Given the description of an element on the screen output the (x, y) to click on. 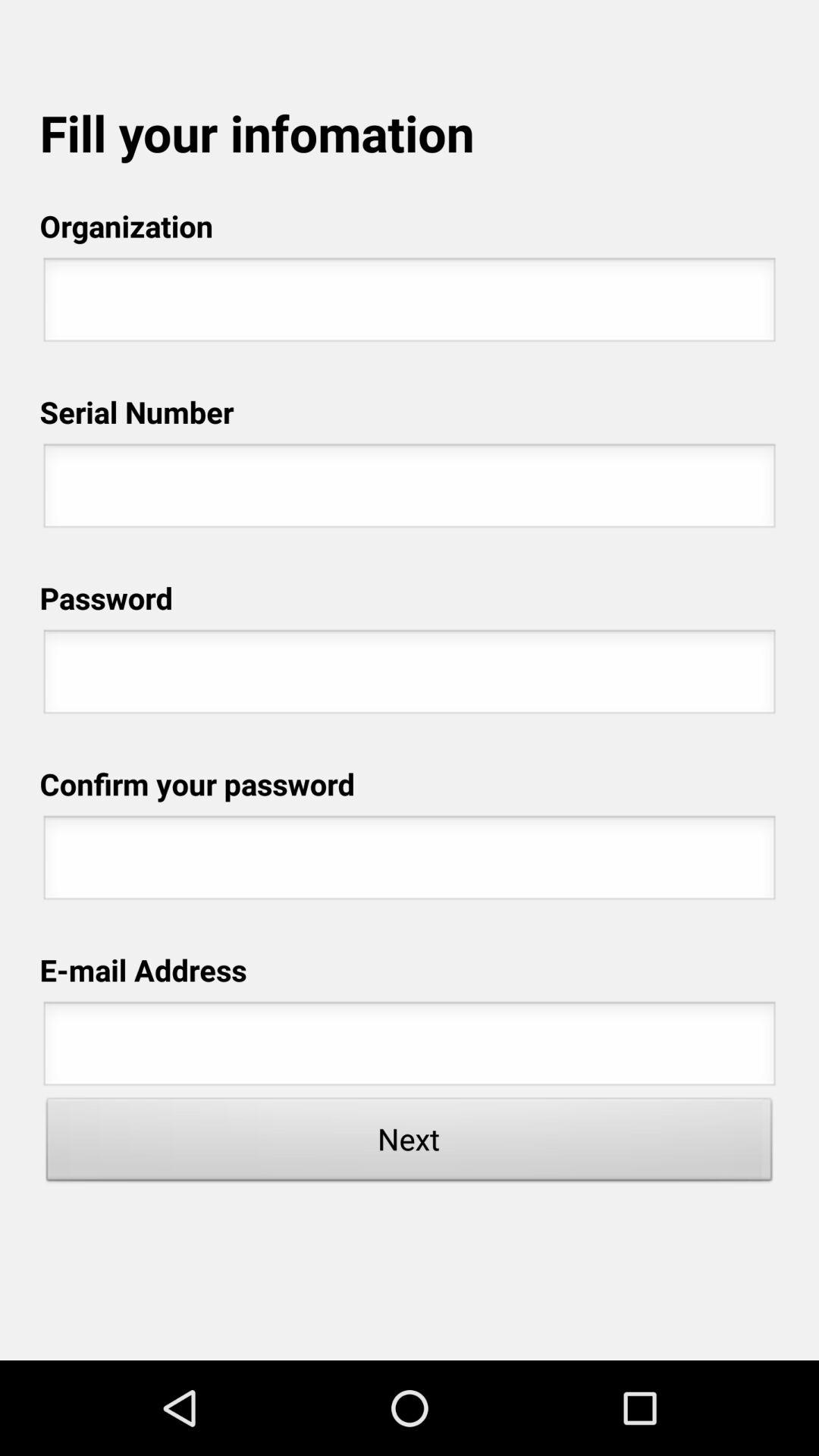
enter email address (409, 1047)
